Given the description of an element on the screen output the (x, y) to click on. 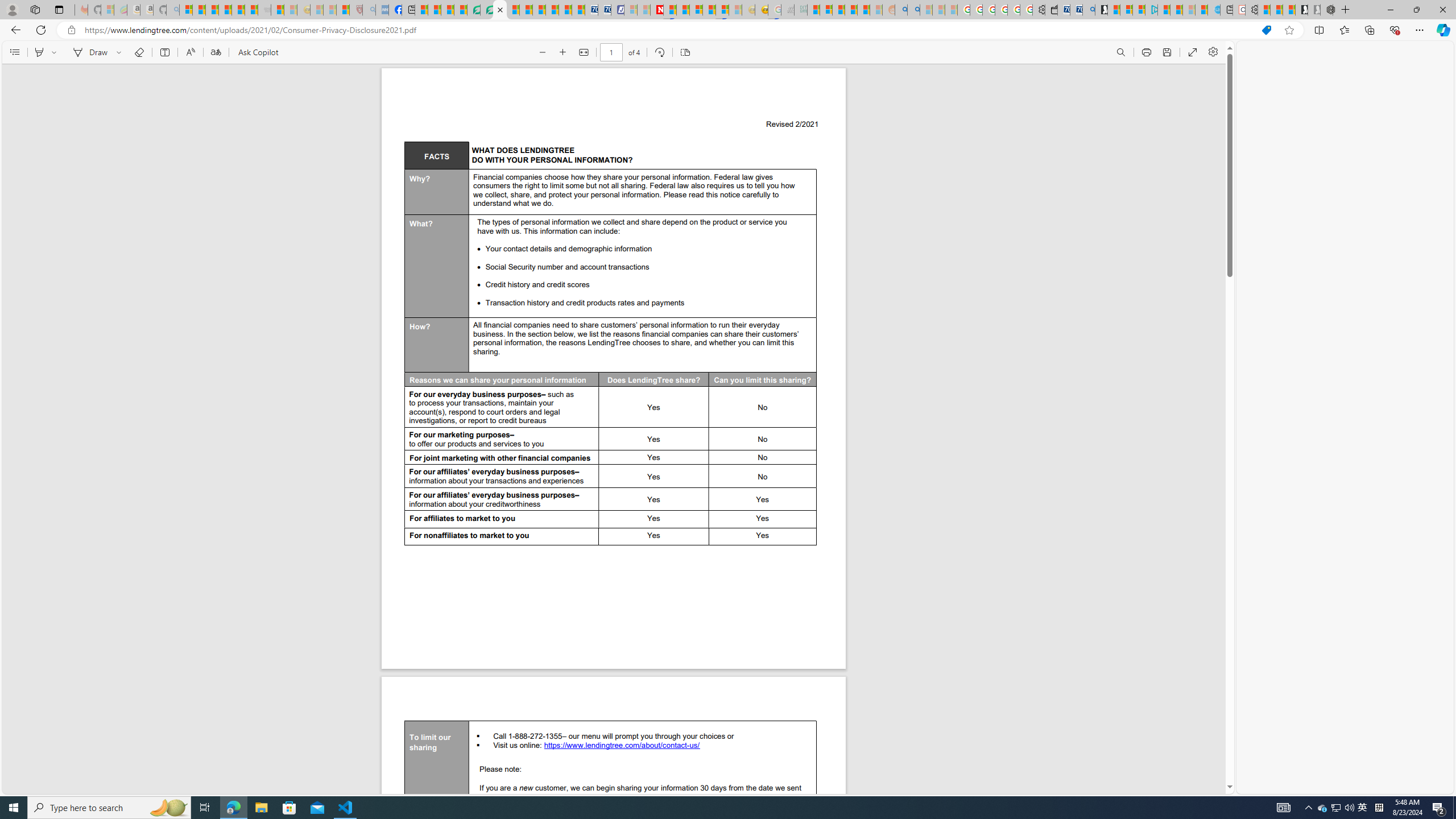
Wallet (1050, 9)
Nordace - Nordace Siena Is Not An Ordinary Backpack (1327, 9)
https://www.lendingtree.com/about/contact-us/ (622, 746)
